Given the description of an element on the screen output the (x, y) to click on. 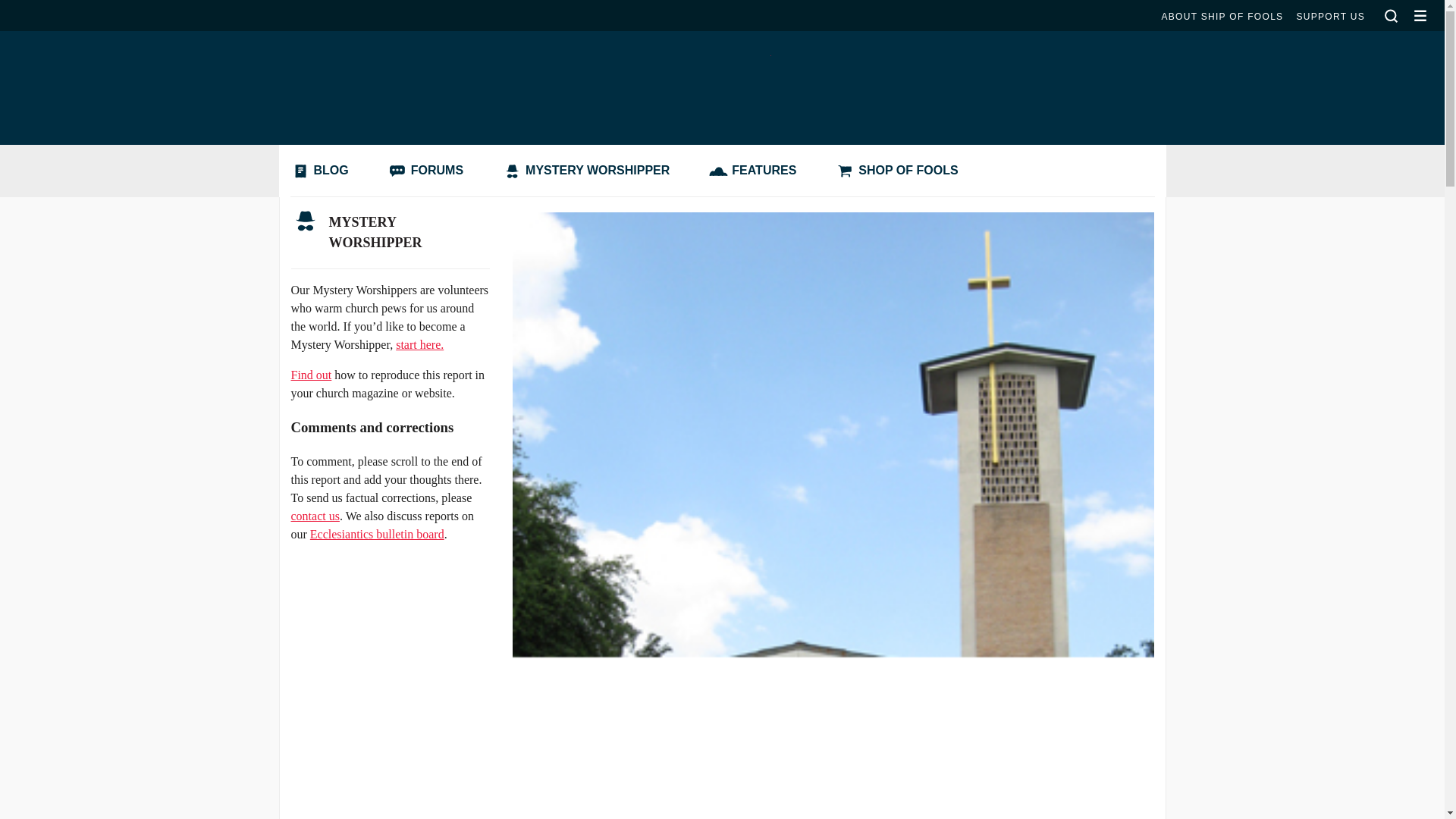
Ecclesiantics bulletin board (377, 533)
FORUMS (429, 170)
contact us (315, 515)
MYSTERY WORSHIPPER (390, 232)
FEATURES (756, 170)
SHOP OF FOOLS (900, 170)
SUPPORT US (1330, 16)
MYSTERY WORSHIPPER (590, 170)
BLOG (322, 170)
ABOUT SHIP OF FOOLS (1221, 16)
Ship of Fools (721, 76)
Find out (311, 374)
start here. (420, 344)
